Given the description of an element on the screen output the (x, y) to click on. 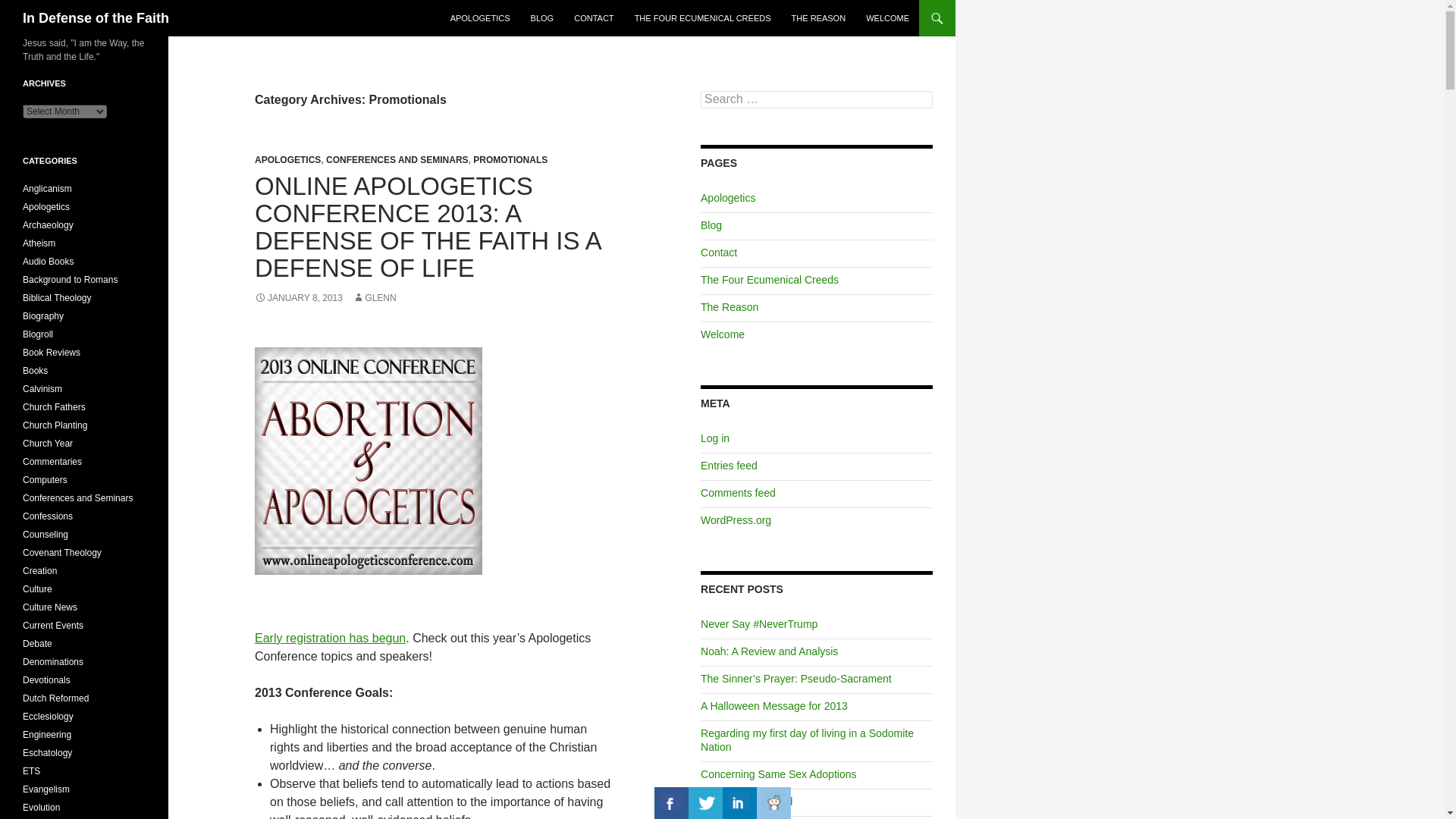
Online Apologetics Conference (330, 637)
CONTACT (593, 18)
WELCOME (887, 18)
APOLOGETICS (287, 159)
APOLOGETICS (480, 18)
Early registration has begun (330, 637)
THE FOUR ECUMENICAL CREEDS (703, 18)
GLENN (374, 297)
BLOG (542, 18)
PROMOTIONALS (510, 159)
JANUARY 8, 2013 (298, 297)
In Defense of the Faith (95, 18)
CONFERENCES AND SEMINARS (397, 159)
THE REASON (819, 18)
